Given the description of an element on the screen output the (x, y) to click on. 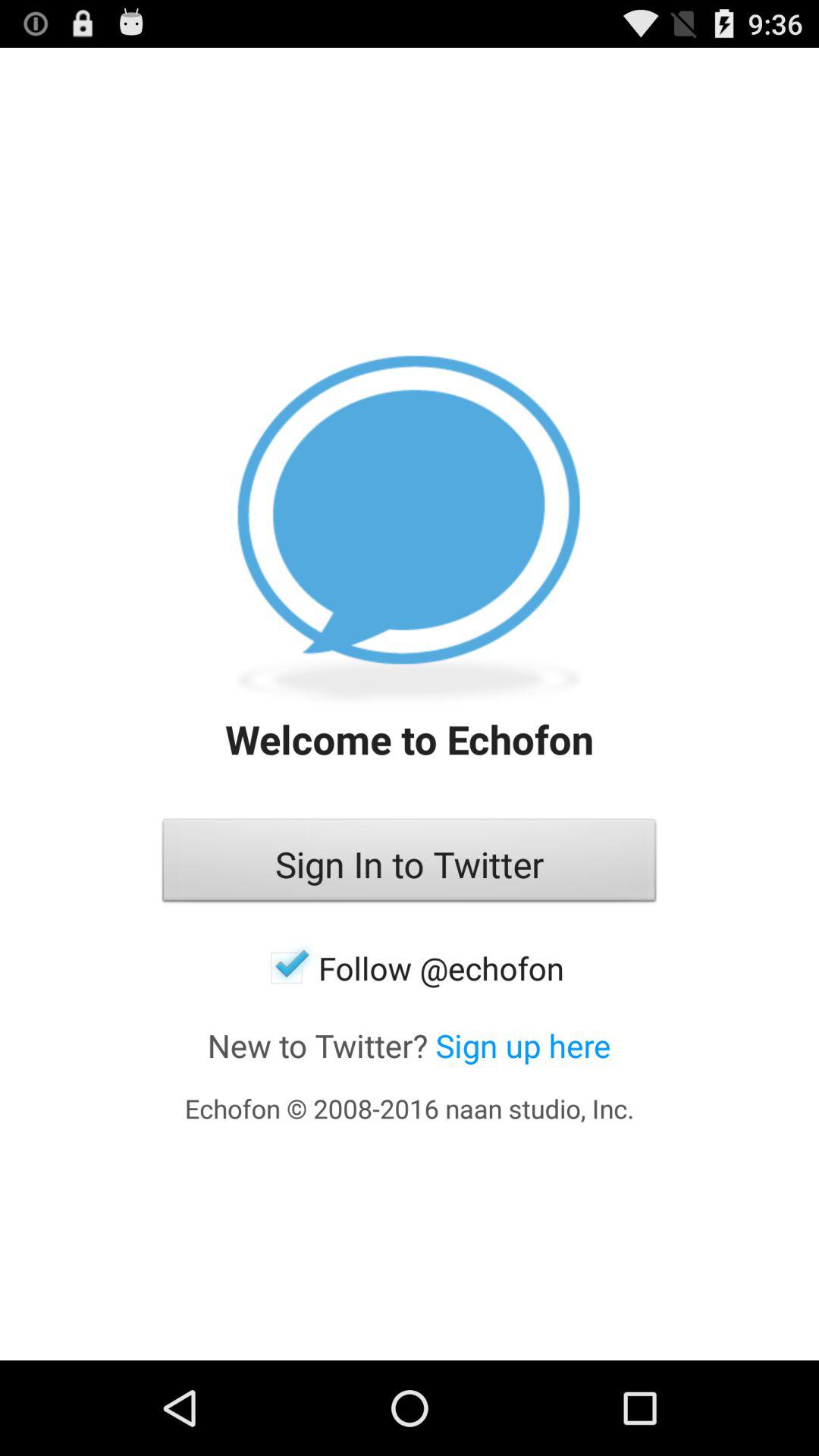
click the follow @echofon (409, 967)
